Given the description of an element on the screen output the (x, y) to click on. 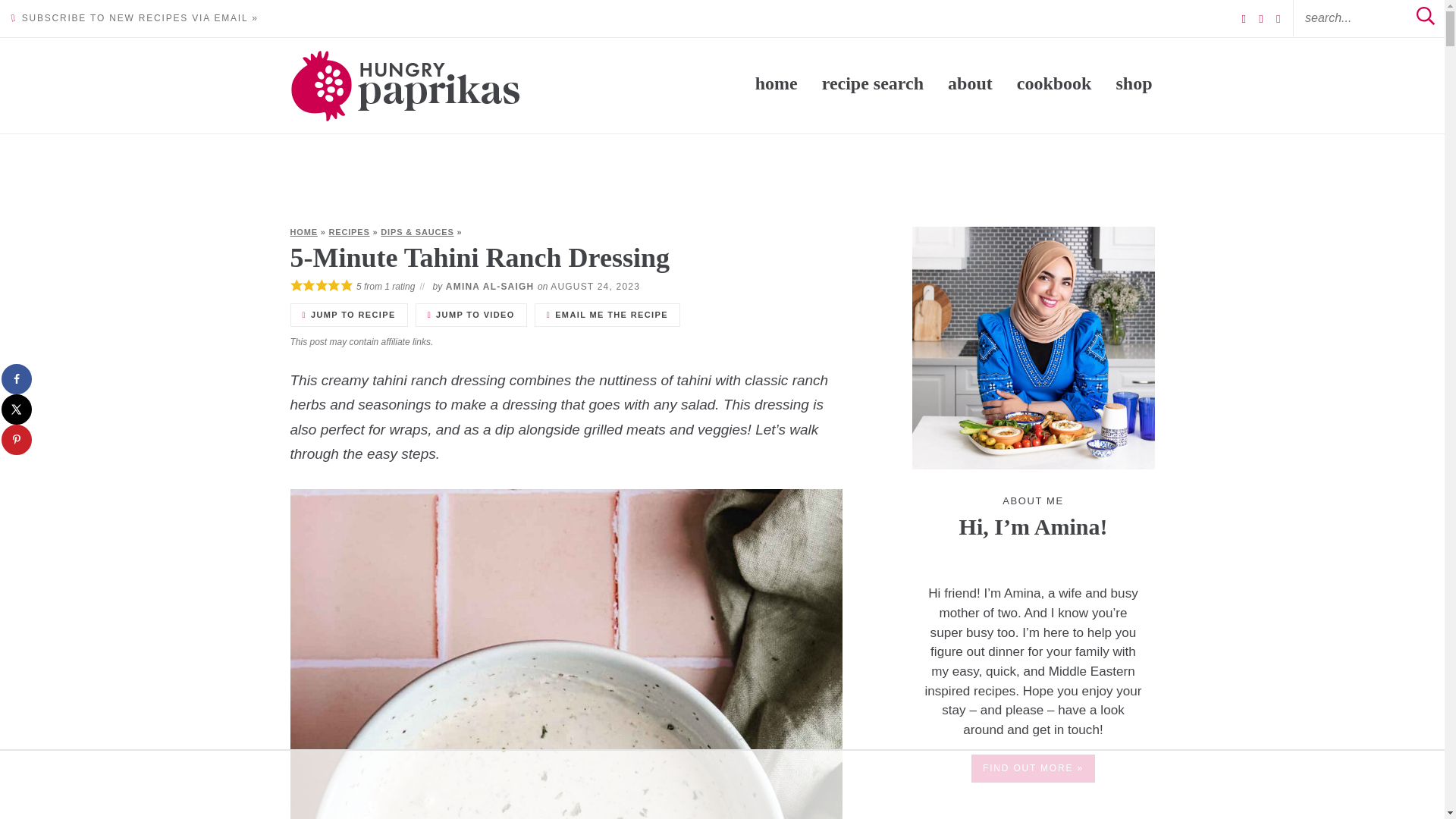
Find Out More (1032, 347)
Hungry Paprikas (404, 85)
Share on Facebook (16, 378)
home (776, 83)
recipe search (872, 83)
Share on X (16, 409)
Save to Pinterest (16, 440)
